Given the description of an element on the screen output the (x, y) to click on. 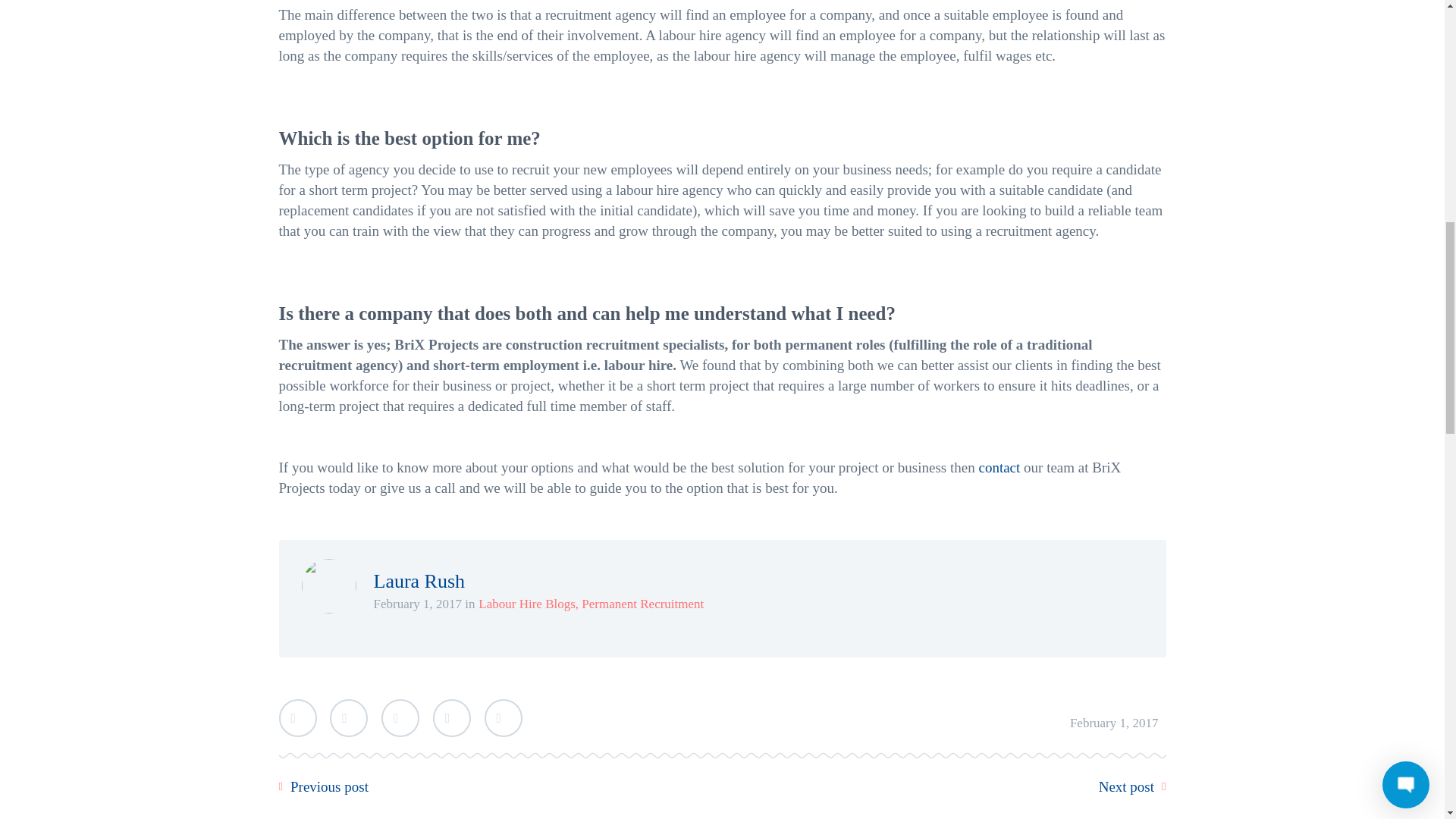
View all posts in Permanent Recruitment (641, 603)
StumbleUpon (502, 718)
Twitter (298, 718)
View all posts in Labour Hire Blogs (527, 603)
Google Plus (400, 718)
Facebook (349, 718)
LinkedIn (451, 718)
